Given the description of an element on the screen output the (x, y) to click on. 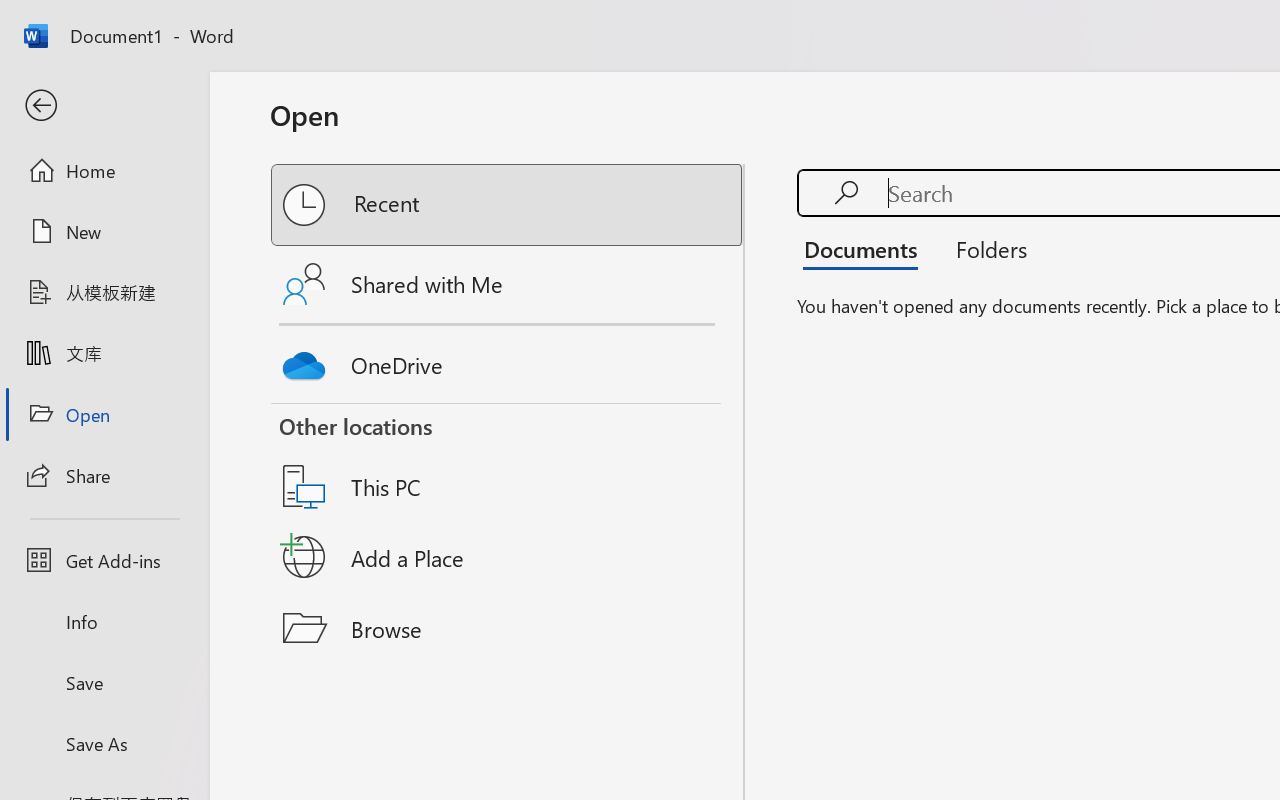
Documents (866, 248)
Recent (507, 205)
Folders (984, 248)
Get Add-ins (104, 560)
